Given the description of an element on the screen output the (x, y) to click on. 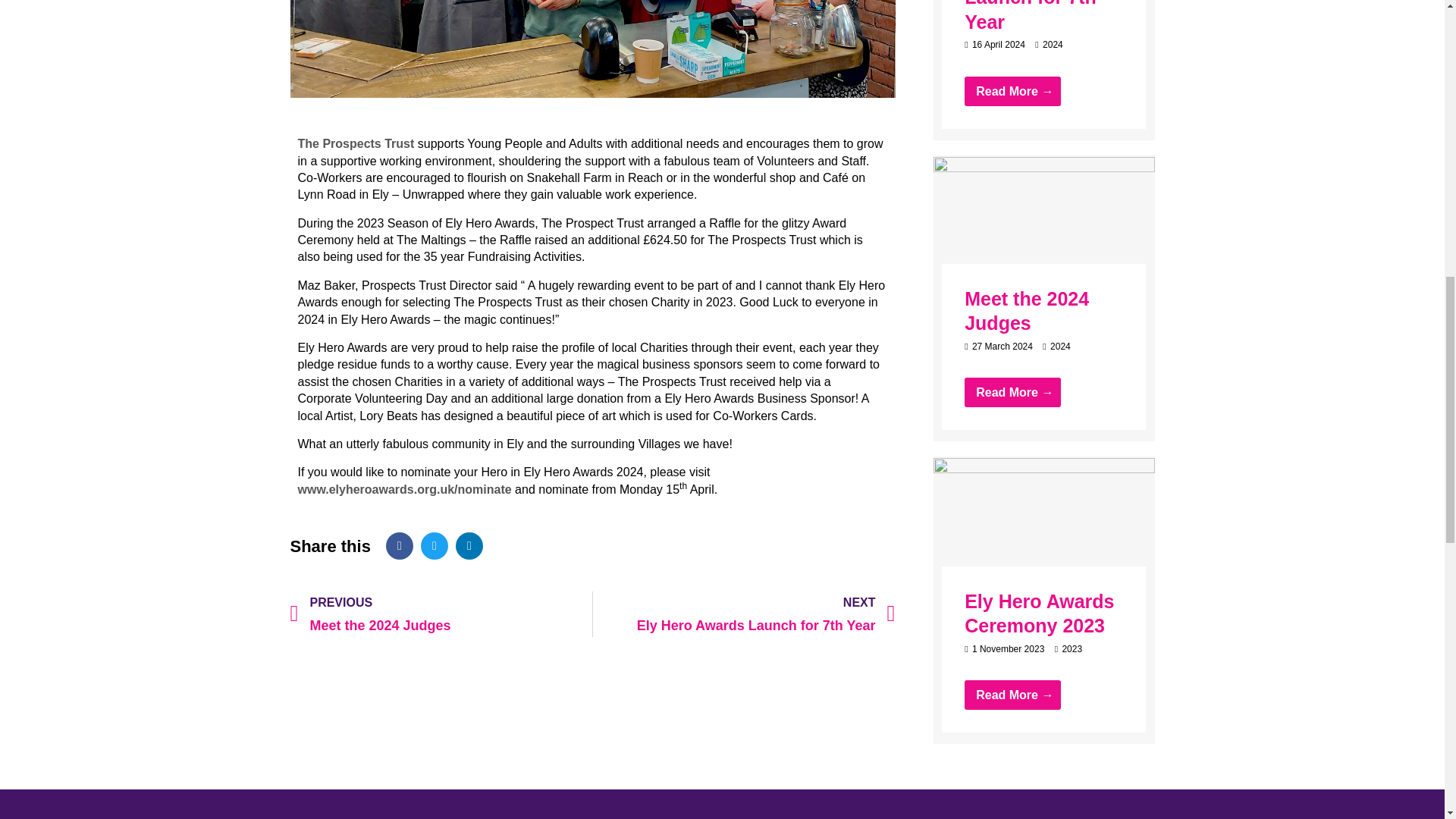
Meet the 2024 Judges (440, 614)
2024 (1026, 311)
Meet the 2024 Judges (1059, 346)
Ely Hero Awards Ceremony 2023 (1043, 226)
The Prospects Trust (1043, 528)
2024 (355, 143)
Ely Hero Awards Launch for 7th Year (743, 614)
